Given the description of an element on the screen output the (x, y) to click on. 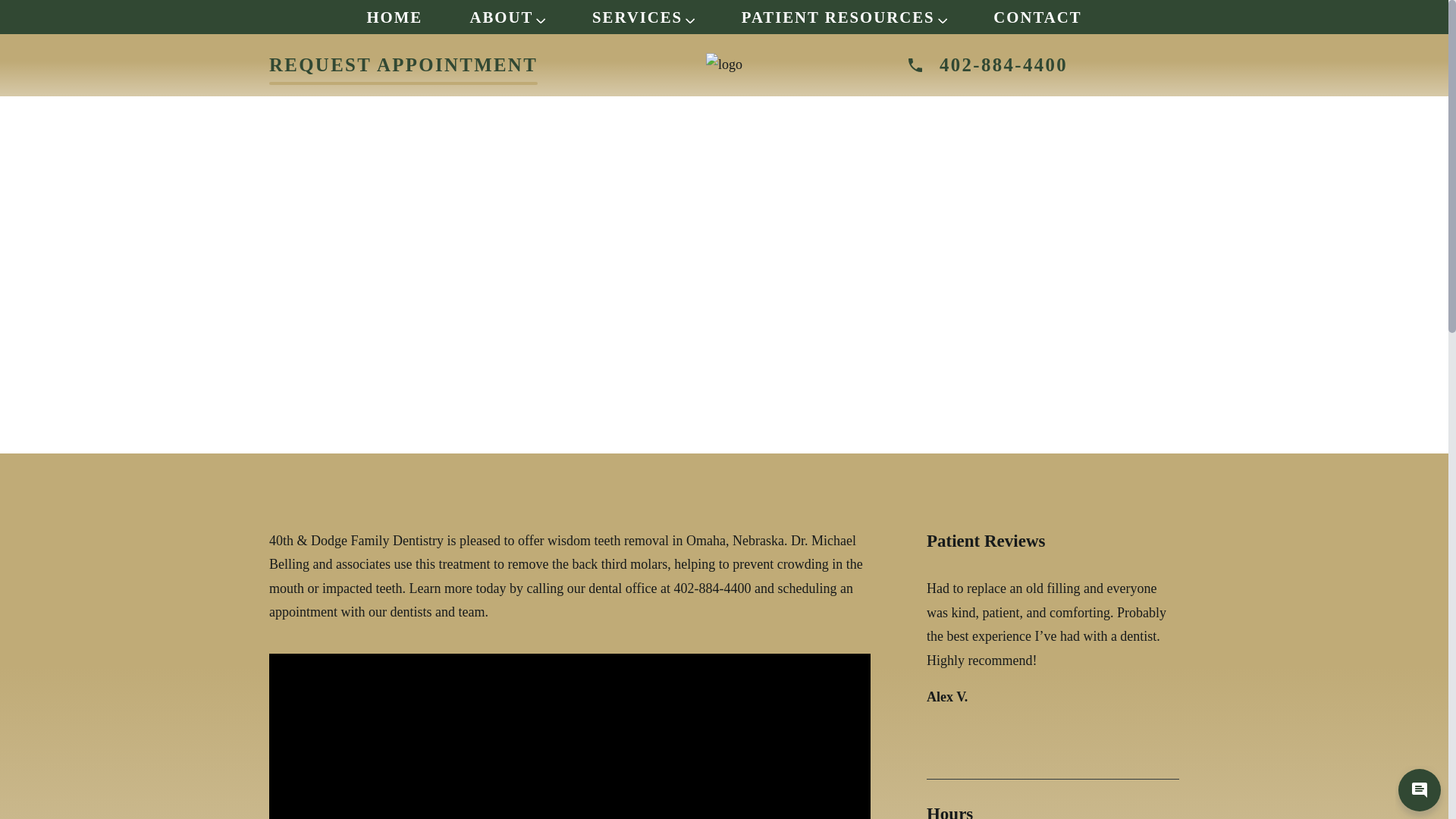
ABOUT Element type: text (506, 17)
REQUEST APPOINTMENT Element type: text (403, 64)
CONTACT Element type: text (1037, 17)
PATIENT RESOURCES Element type: text (844, 17)
402-884-4400 Element type: text (1042, 65)
HOME Element type: text (393, 17)
SERVICES Element type: text (643, 17)
